Given the description of an element on the screen output the (x, y) to click on. 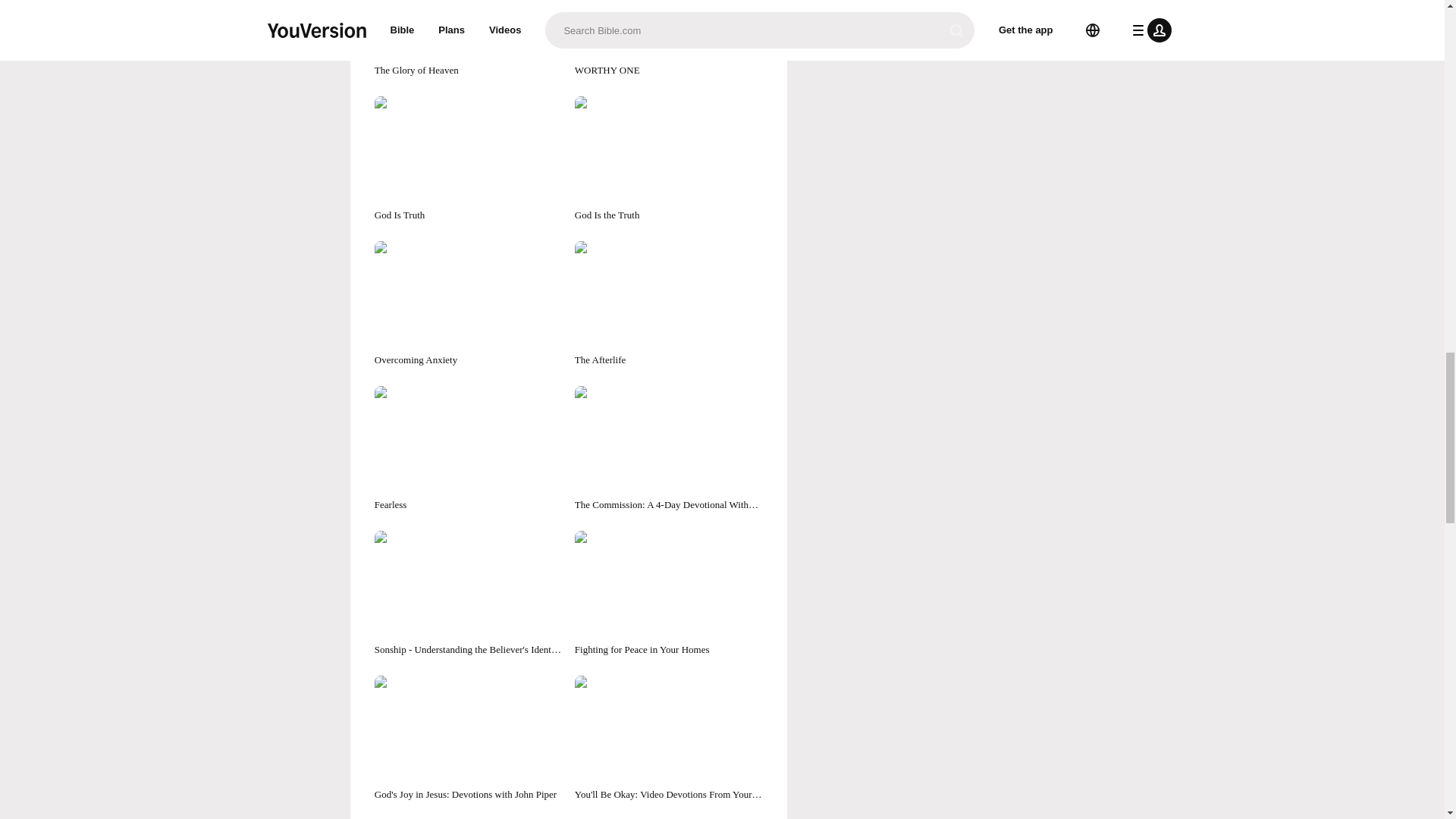
WORTHY ONE (668, 38)
The Glory of Heaven (468, 38)
God Is Truth (468, 159)
God Is the Truth (668, 159)
